Given the description of an element on the screen output the (x, y) to click on. 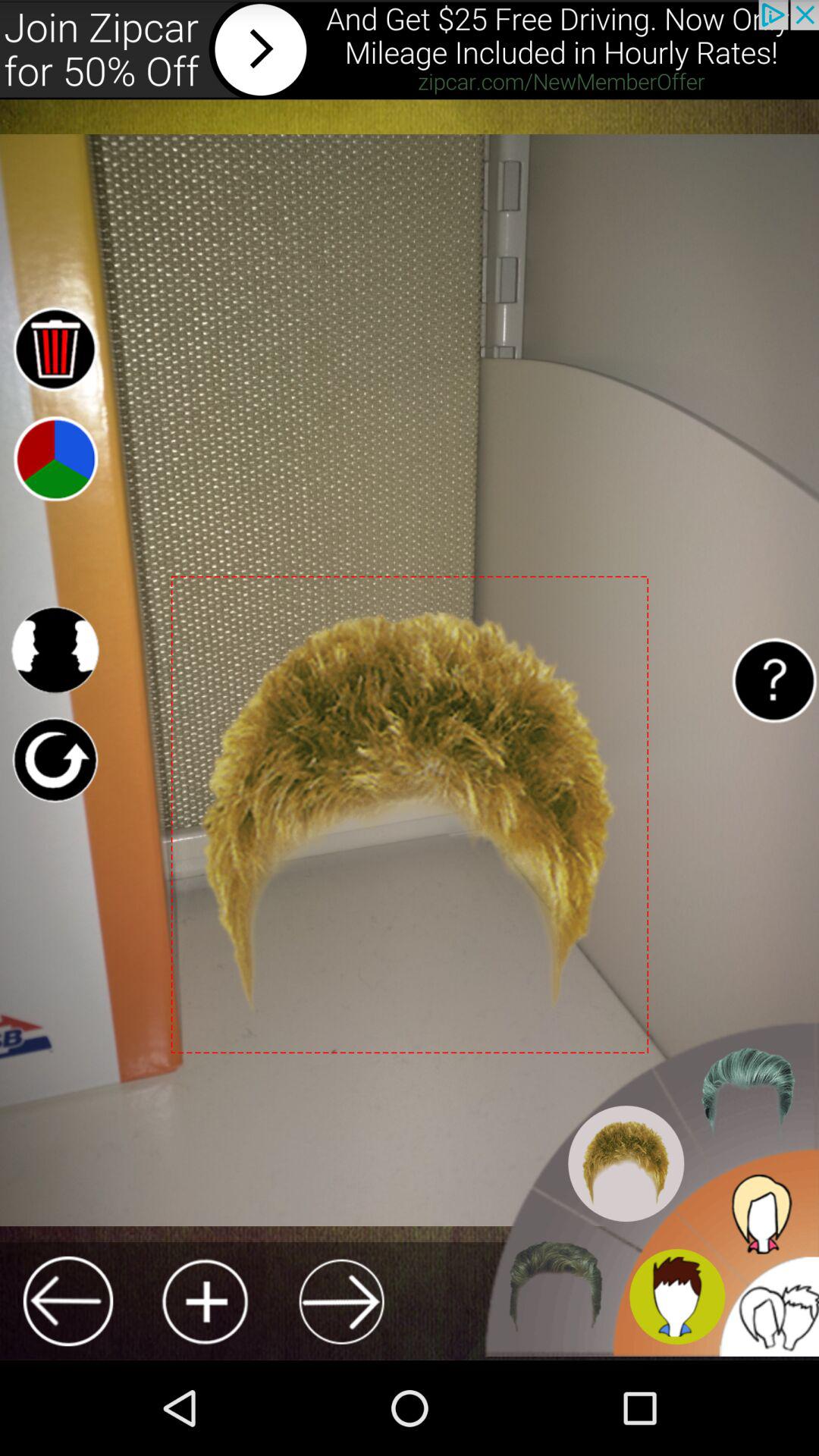
add button (204, 1301)
